Given the description of an element on the screen output the (x, y) to click on. 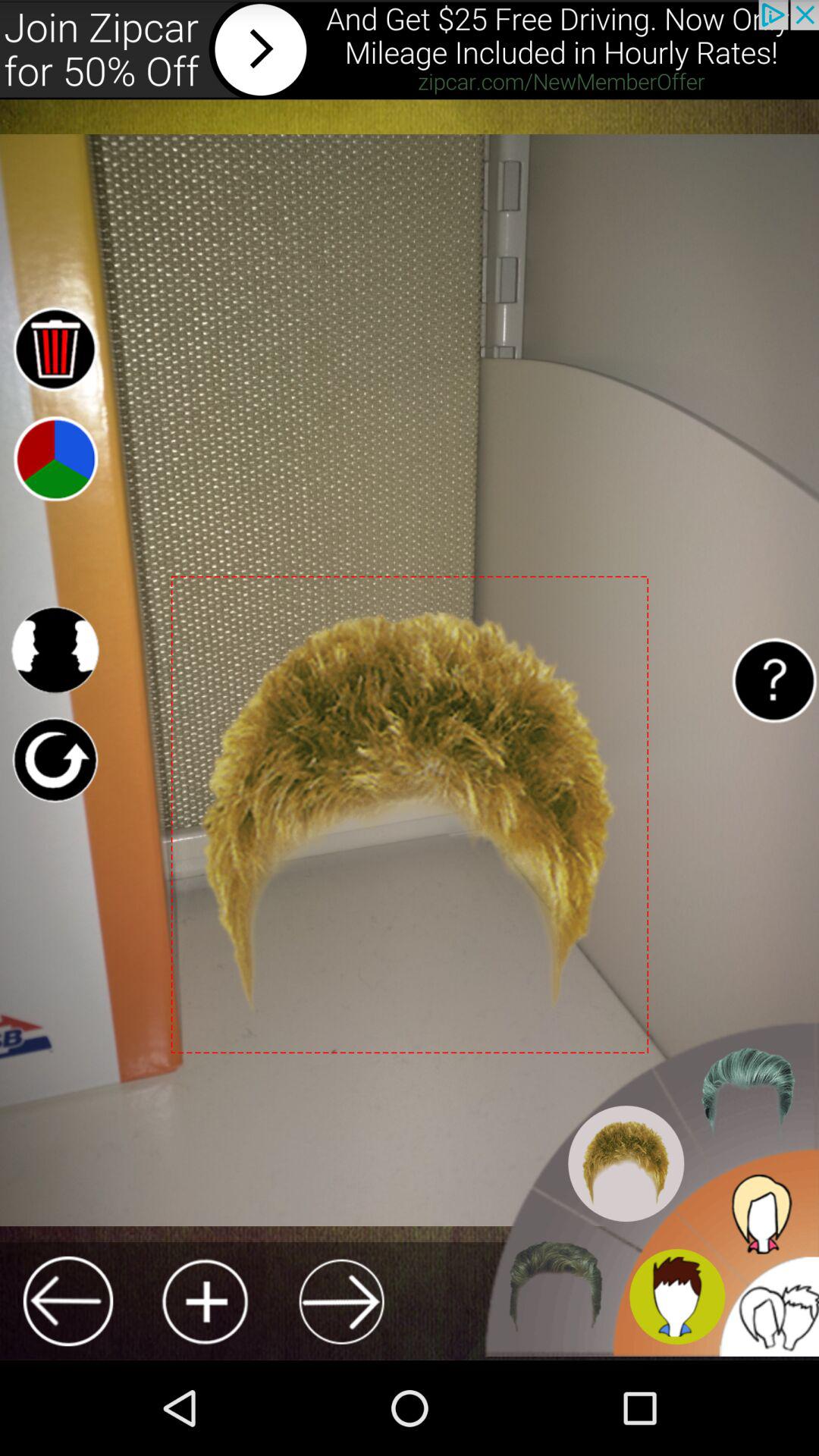
add button (204, 1301)
